Given the description of an element on the screen output the (x, y) to click on. 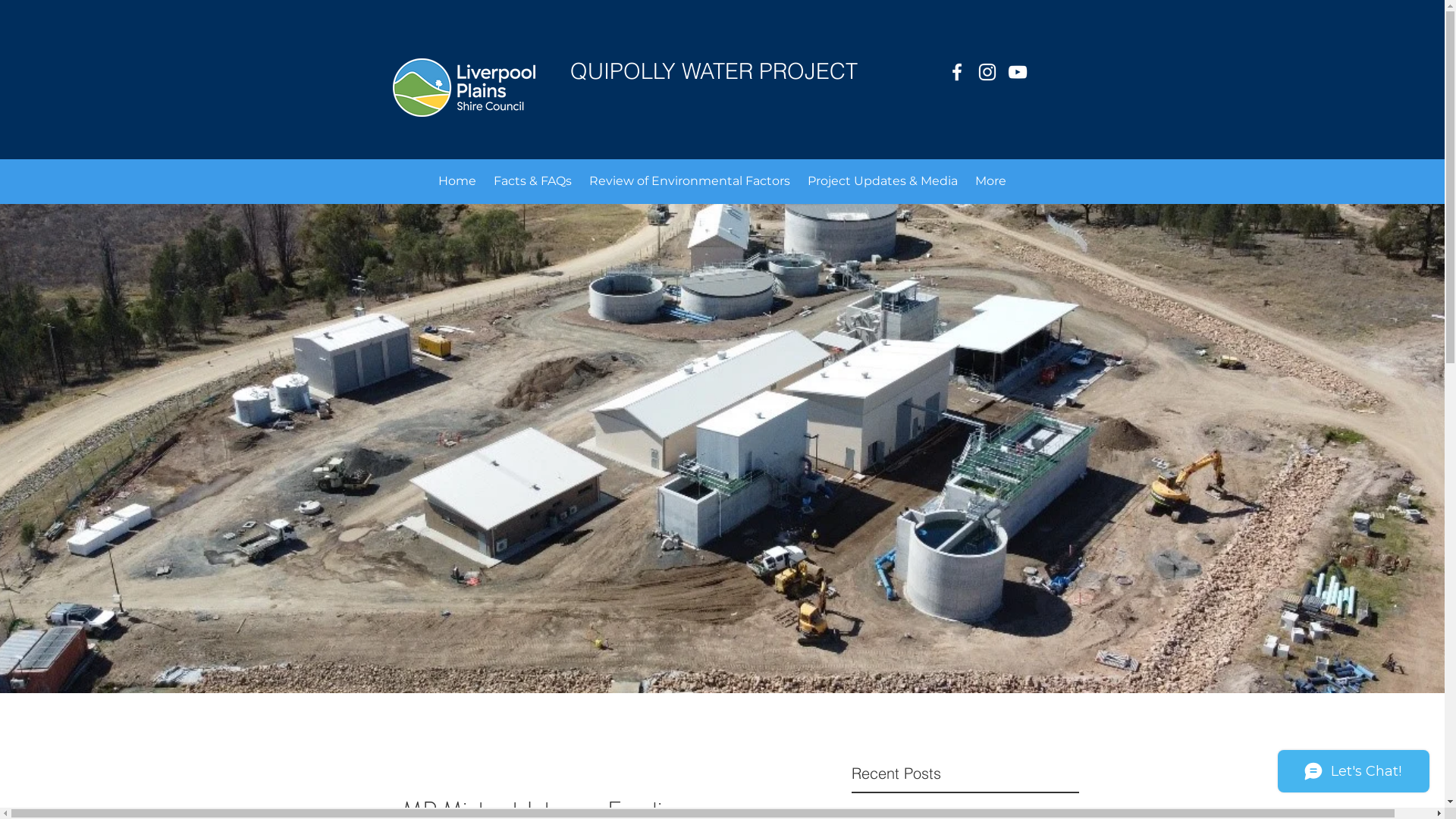
Home Element type: text (456, 180)
Wix Chat Element type: hover (1357, 774)
Facts & FAQs Element type: text (532, 180)
LPSC_INLINE LOGO REV_RGB_FA.png Element type: hover (463, 87)
Project Updates & Media Element type: text (882, 180)
Review of Environmental Factors Element type: text (689, 180)
